Given the description of an element on the screen output the (x, y) to click on. 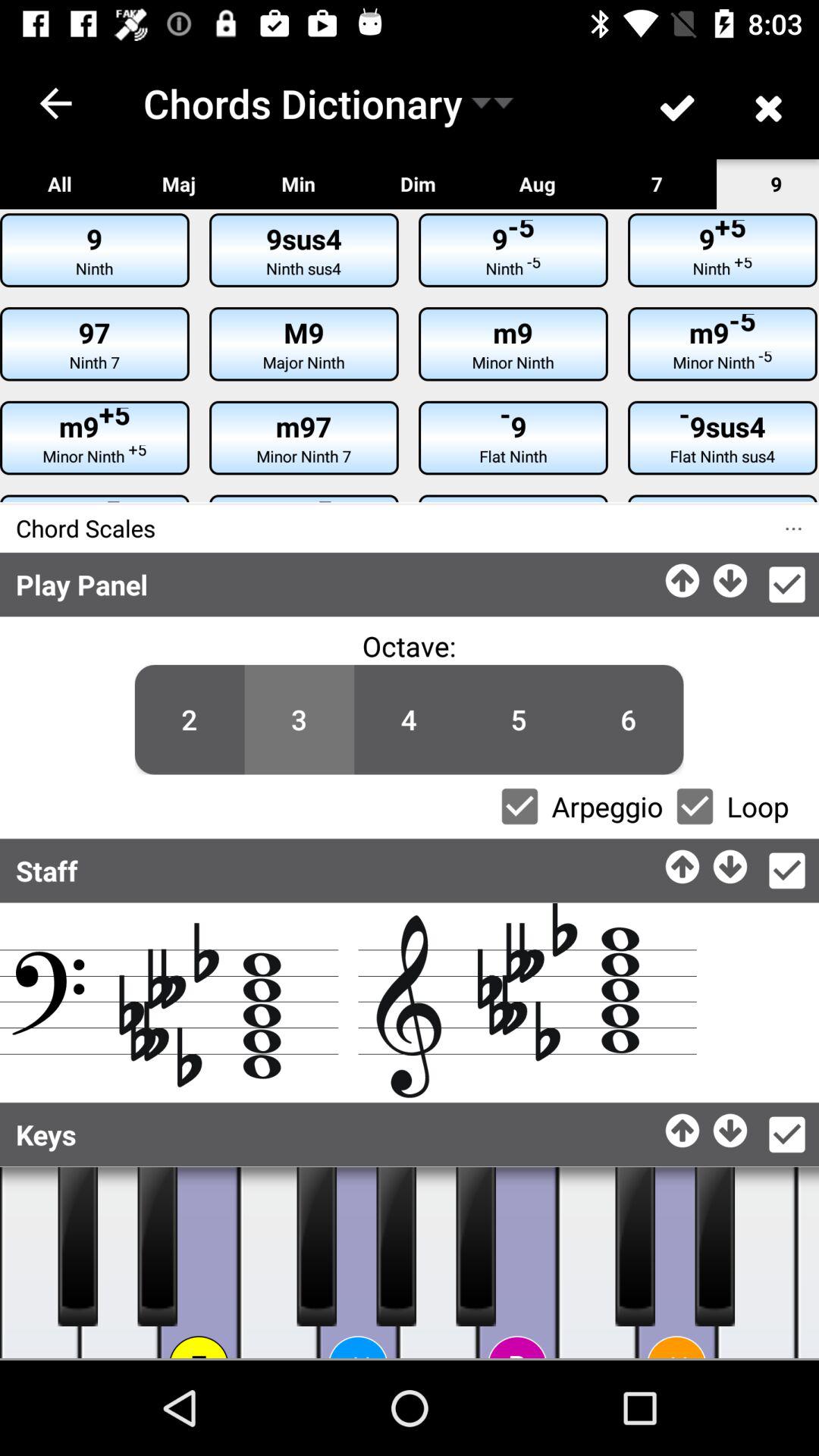
piano keys (157, 1246)
